Given the description of an element on the screen output the (x, y) to click on. 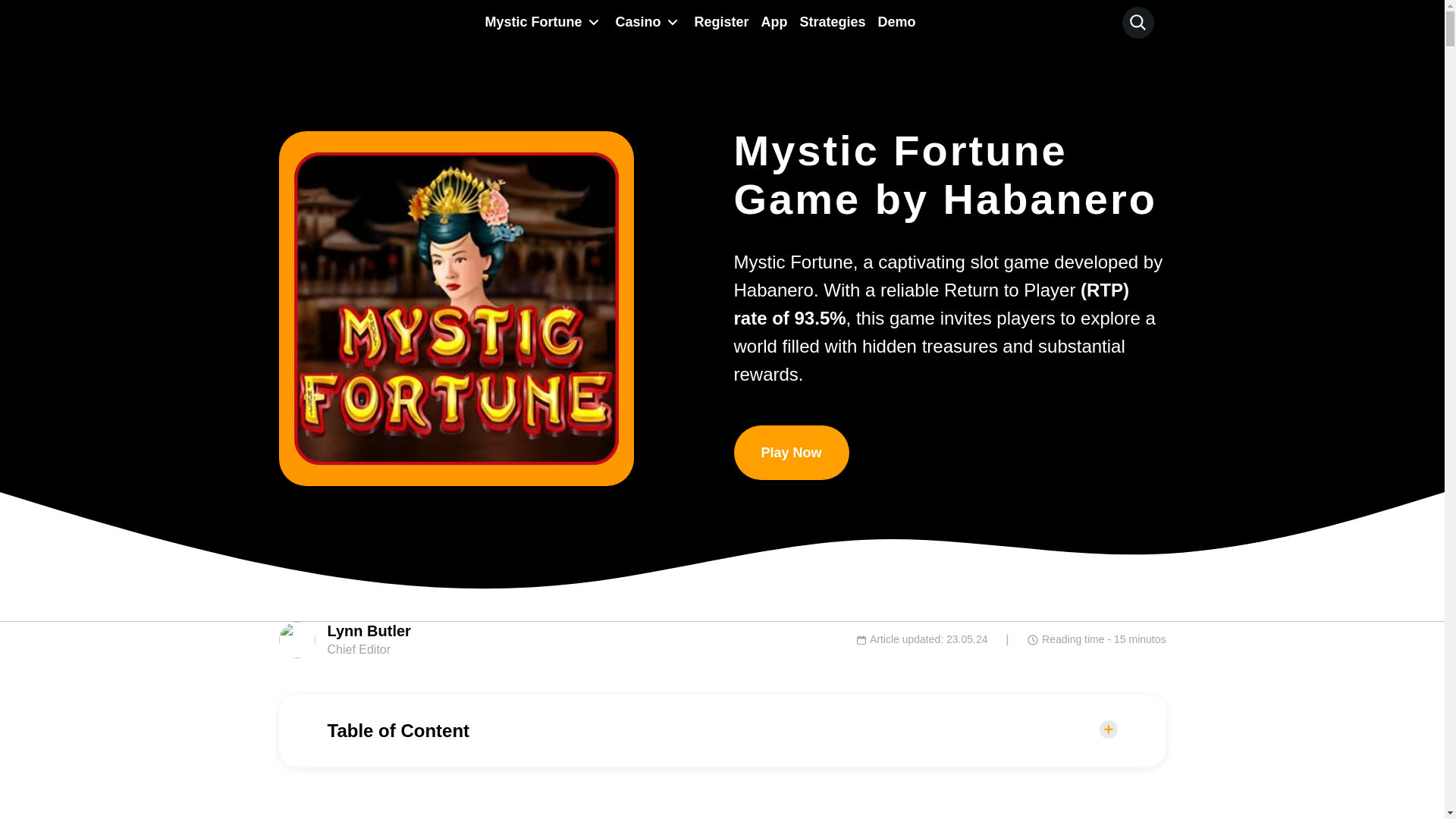
Table of Content (722, 730)
App (774, 21)
Strategies (831, 21)
Casino (634, 21)
Demo (896, 21)
Register (720, 21)
Mystic Fortune (529, 21)
Play Now (790, 452)
